Given the description of an element on the screen output the (x, y) to click on. 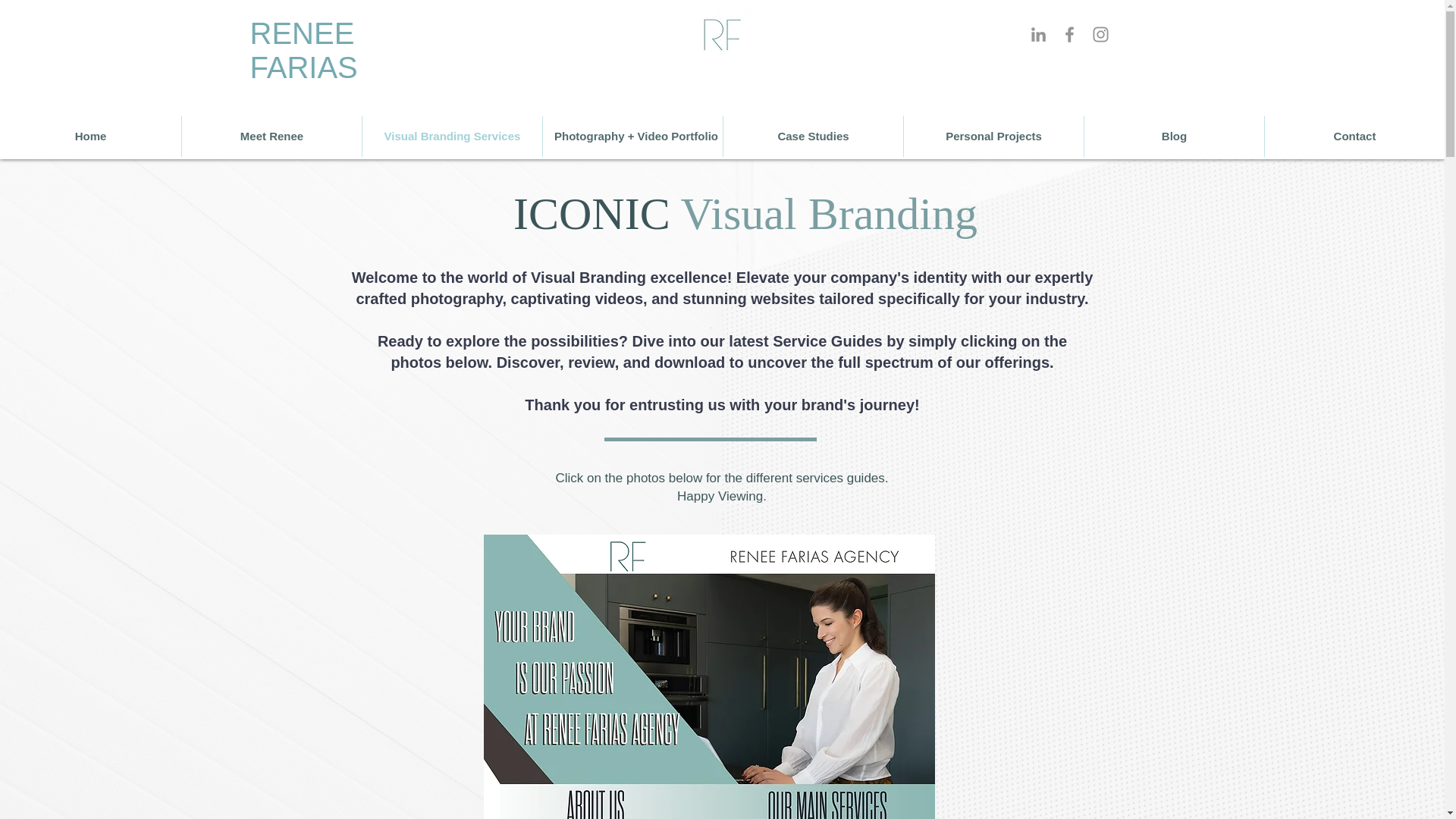
Case Studies (812, 136)
Visual Branding Services (451, 136)
Blog (1173, 136)
Home (90, 136)
Los Angeles Business Branding Photographer (719, 34)
Meet Renee (271, 136)
RENEE FARIAS (304, 54)
